Given the description of an element on the screen output the (x, y) to click on. 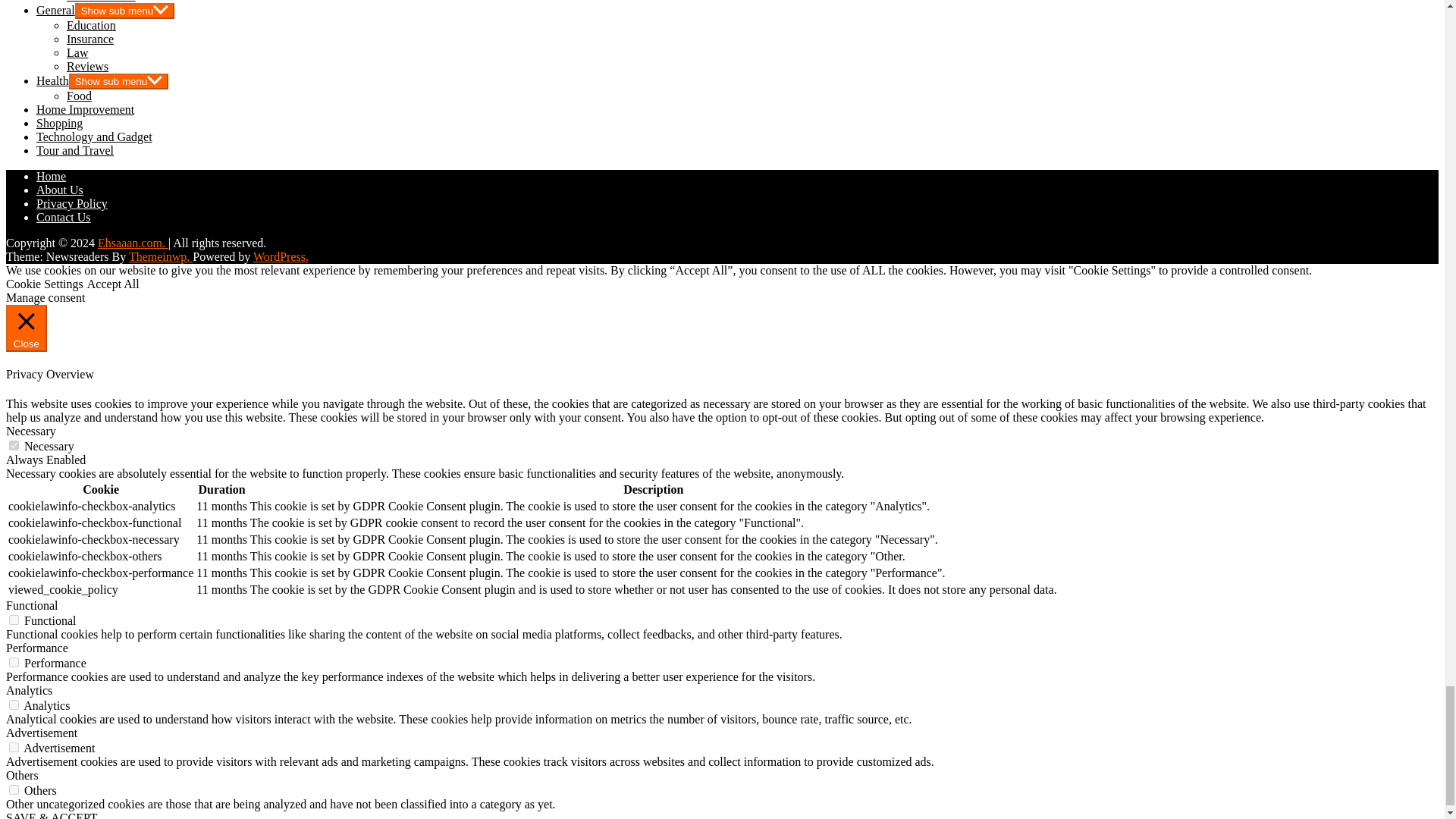
on (13, 445)
on (13, 662)
on (13, 619)
Themeinwp (160, 256)
WordPress (280, 256)
on (13, 705)
on (13, 789)
Ehsaaan.com (132, 242)
on (13, 747)
